Given the description of an element on the screen output the (x, y) to click on. 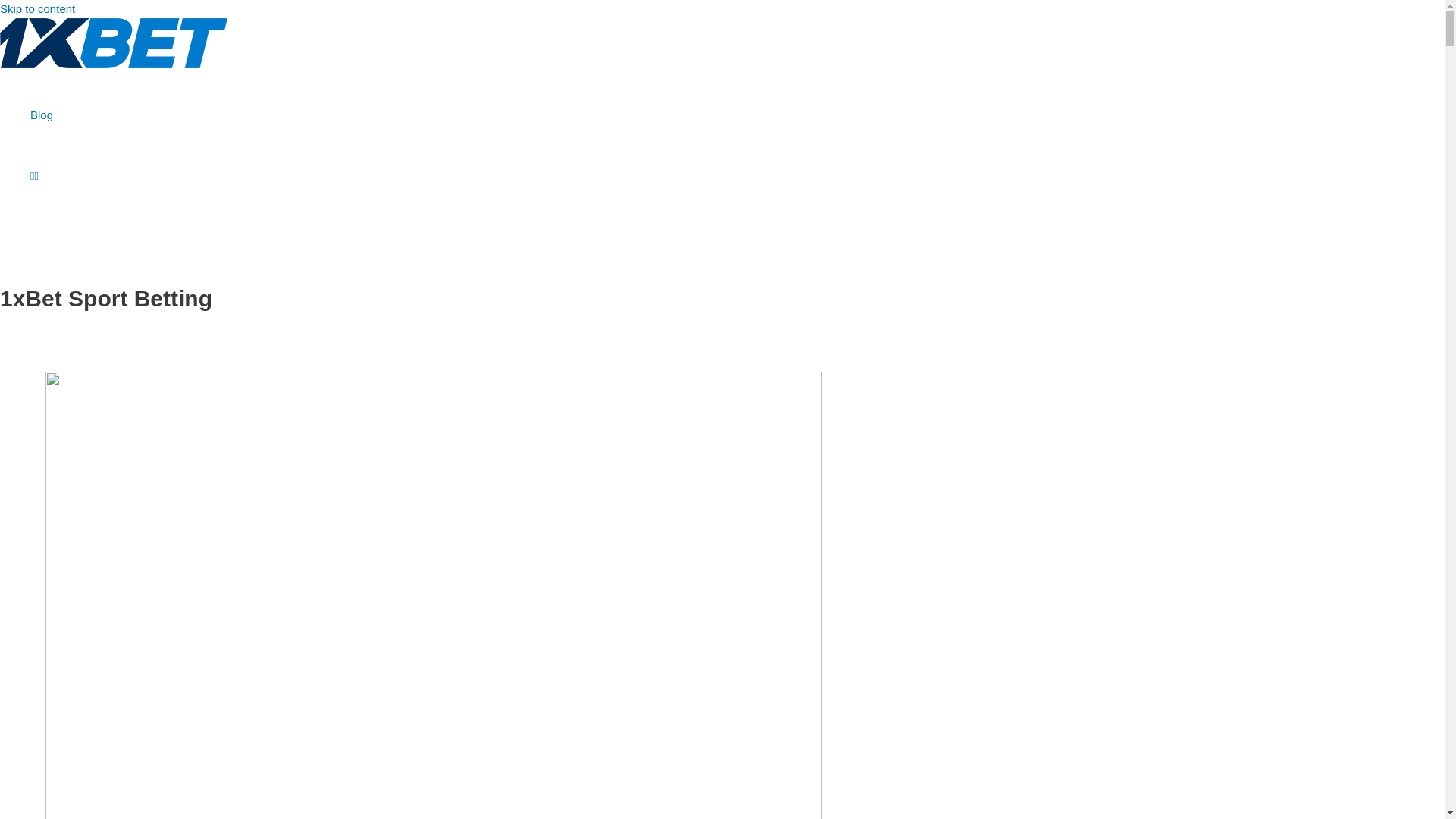
Blog Element type: text (41, 114)
Skip to content Element type: text (37, 8)
